Given the description of an element on the screen output the (x, y) to click on. 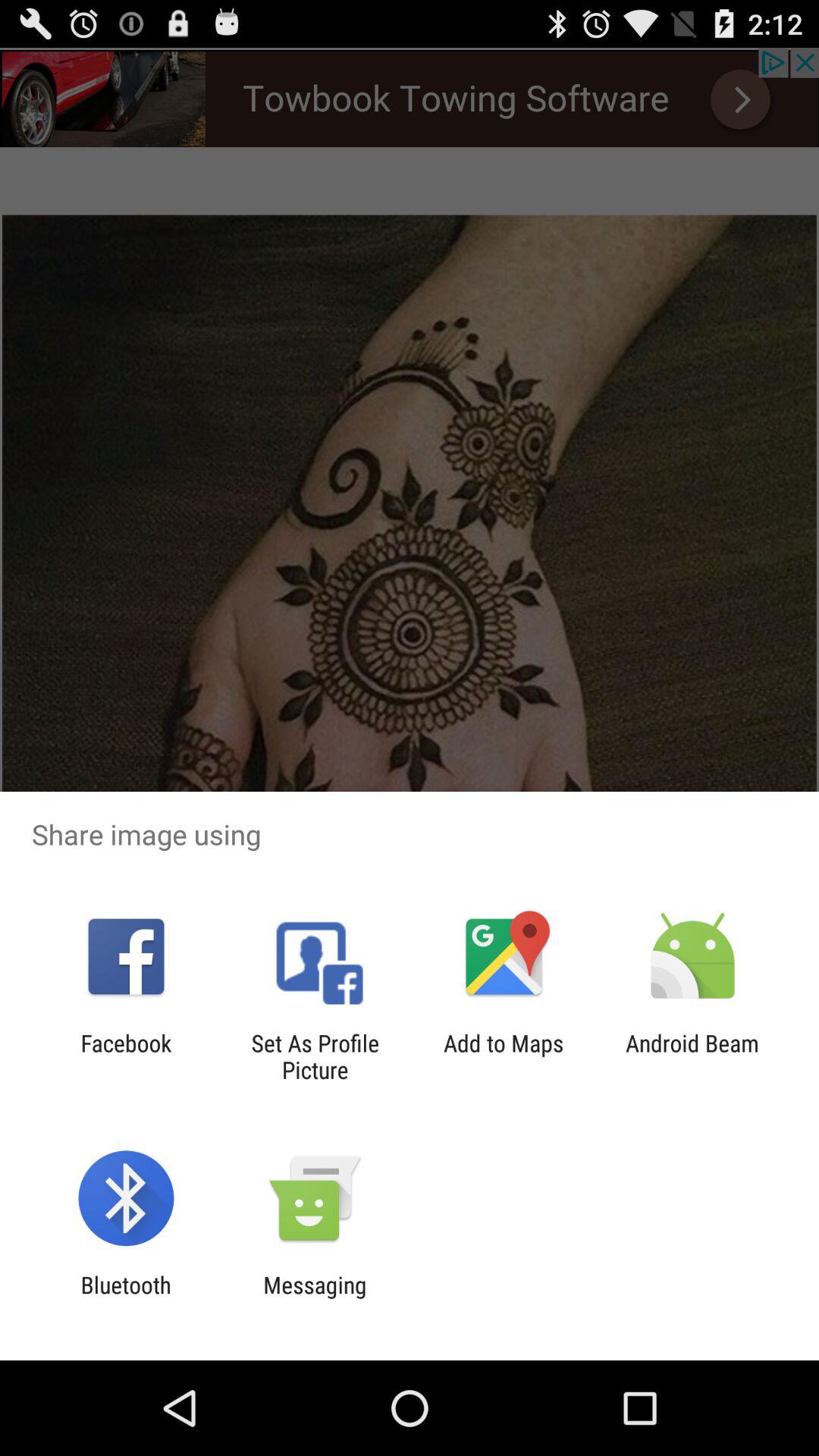
flip until the android beam app (692, 1056)
